Given the description of an element on the screen output the (x, y) to click on. 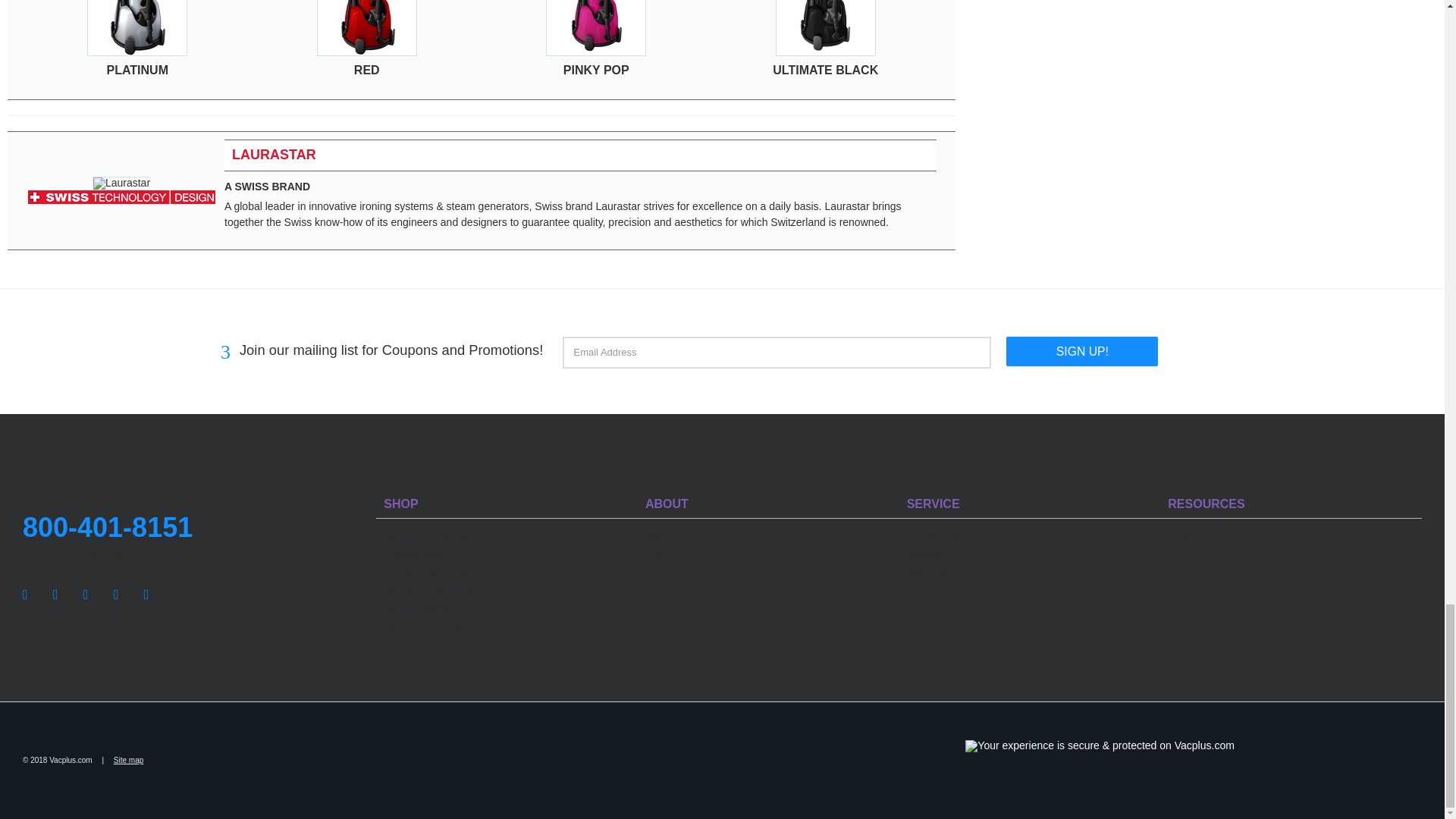
Laurastar (121, 183)
Laurastar Lift - Red (366, 28)
Laurastar Lift - Ultimate Black (826, 28)
Laurastar (121, 196)
Laurastar Lift - Pinky Pop (596, 28)
Laurastar Lift - Platinum (137, 28)
